Given the description of an element on the screen output the (x, y) to click on. 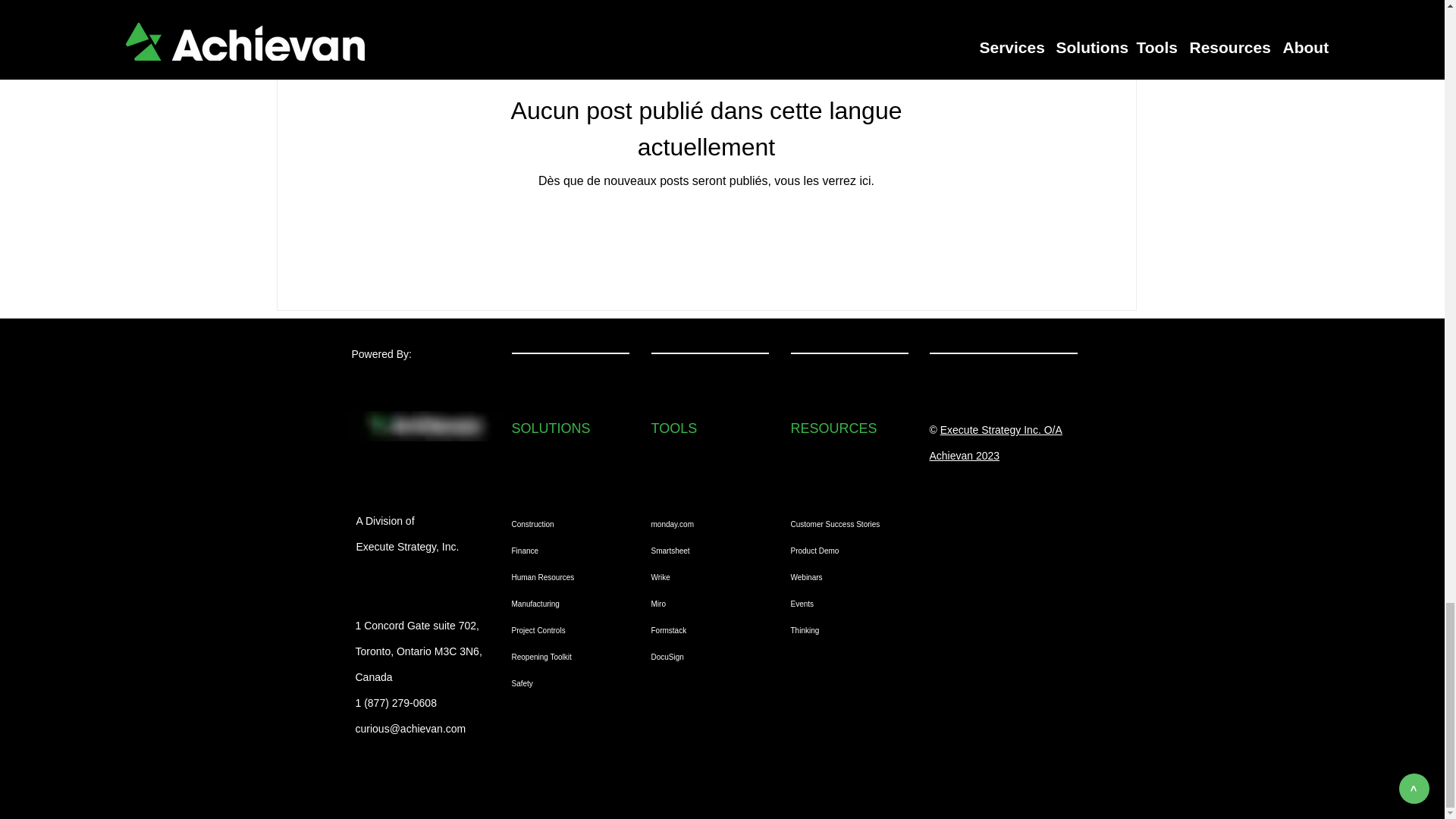
Safety (560, 683)
Construction (560, 524)
Human Resources (560, 577)
Smartsheet (705, 550)
Reopening Toolkit (560, 655)
Execute Strategy Inc (989, 428)
monday.com (705, 524)
Finance (560, 550)
Wrike (705, 577)
Manufacturing (560, 602)
Project Controls (560, 630)
